Given the description of an element on the screen output the (x, y) to click on. 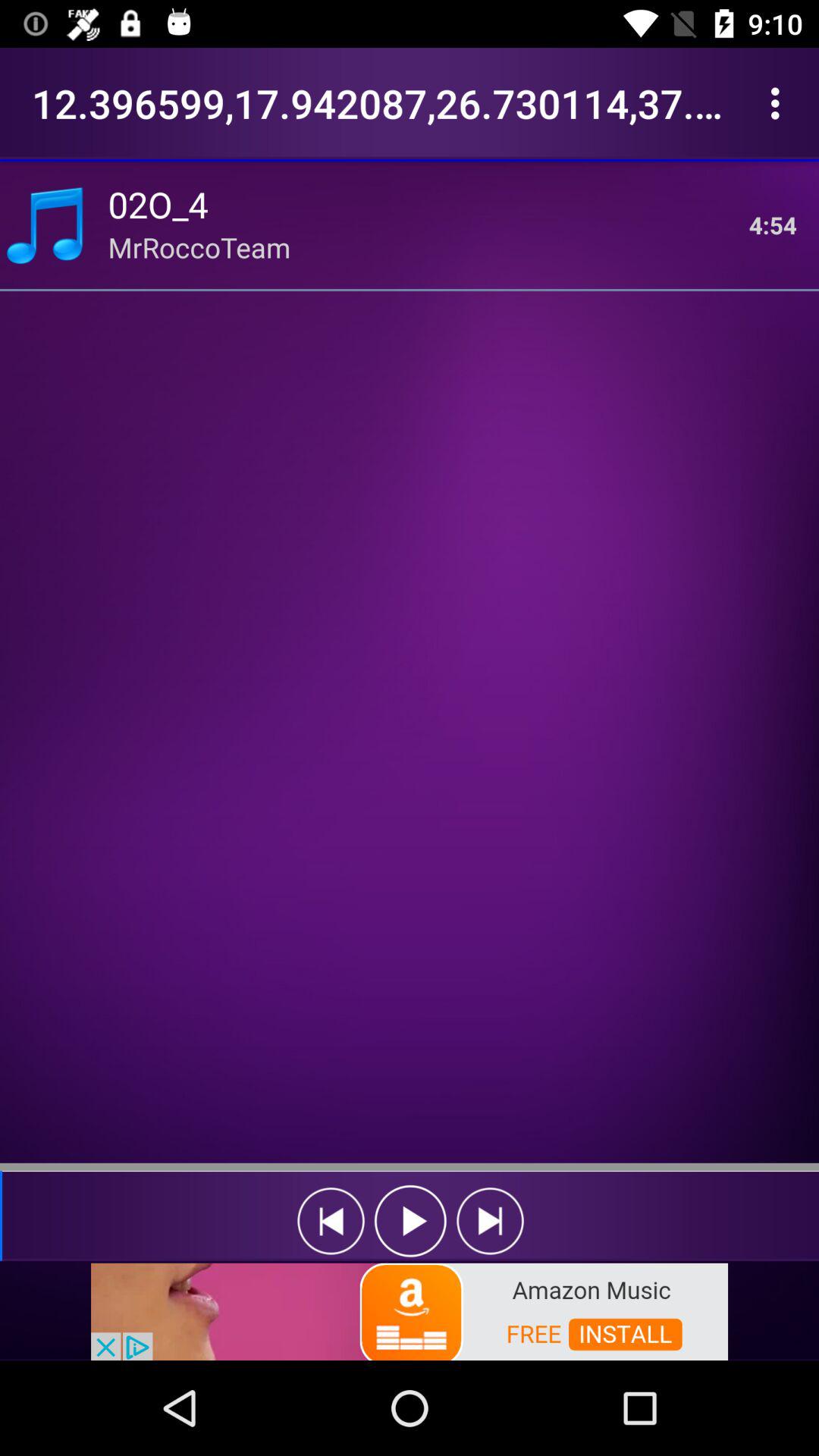
rewind the song (330, 1220)
